Given the description of an element on the screen output the (x, y) to click on. 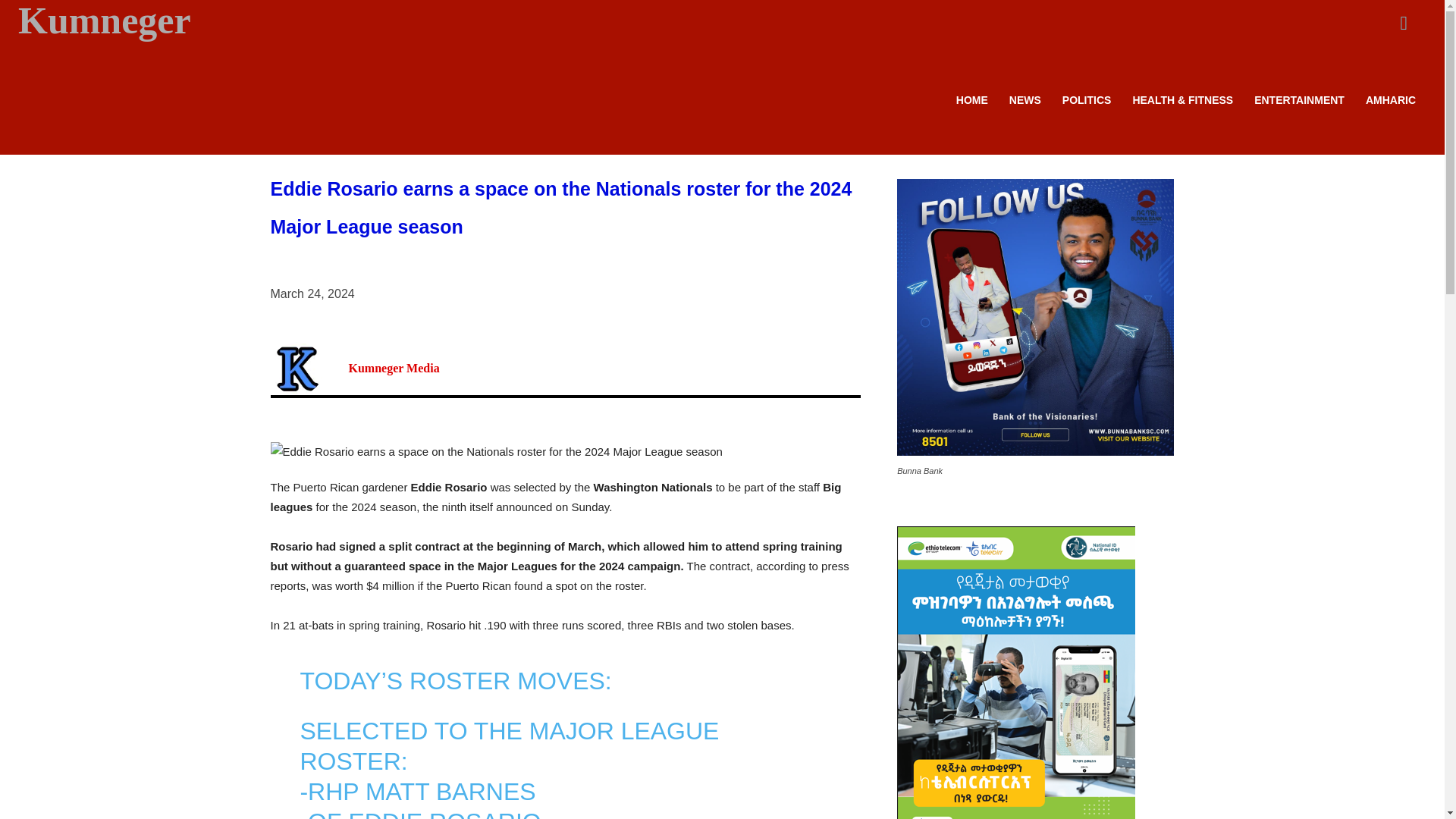
Kumneger Media (394, 368)
POLITICS (1086, 99)
ENTERTAINMENT (1299, 99)
NEWS (1024, 99)
HOME (971, 99)
Kumneger (179, 20)
AMHARIC (1390, 99)
Kumneger Media (307, 368)
